Given the description of an element on the screen output the (x, y) to click on. 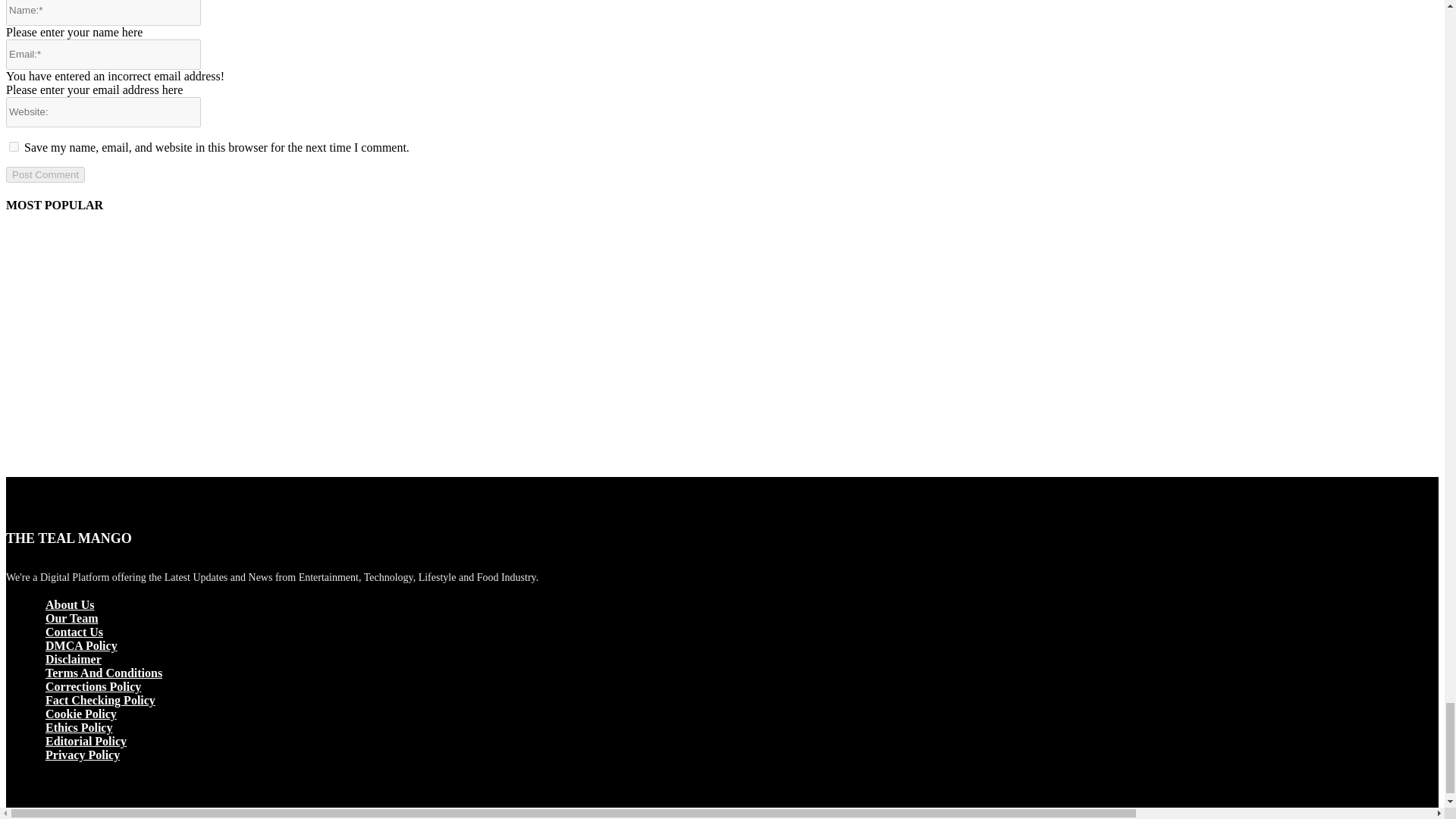
yes (13, 146)
Post Comment (44, 174)
